Given the description of an element on the screen output the (x, y) to click on. 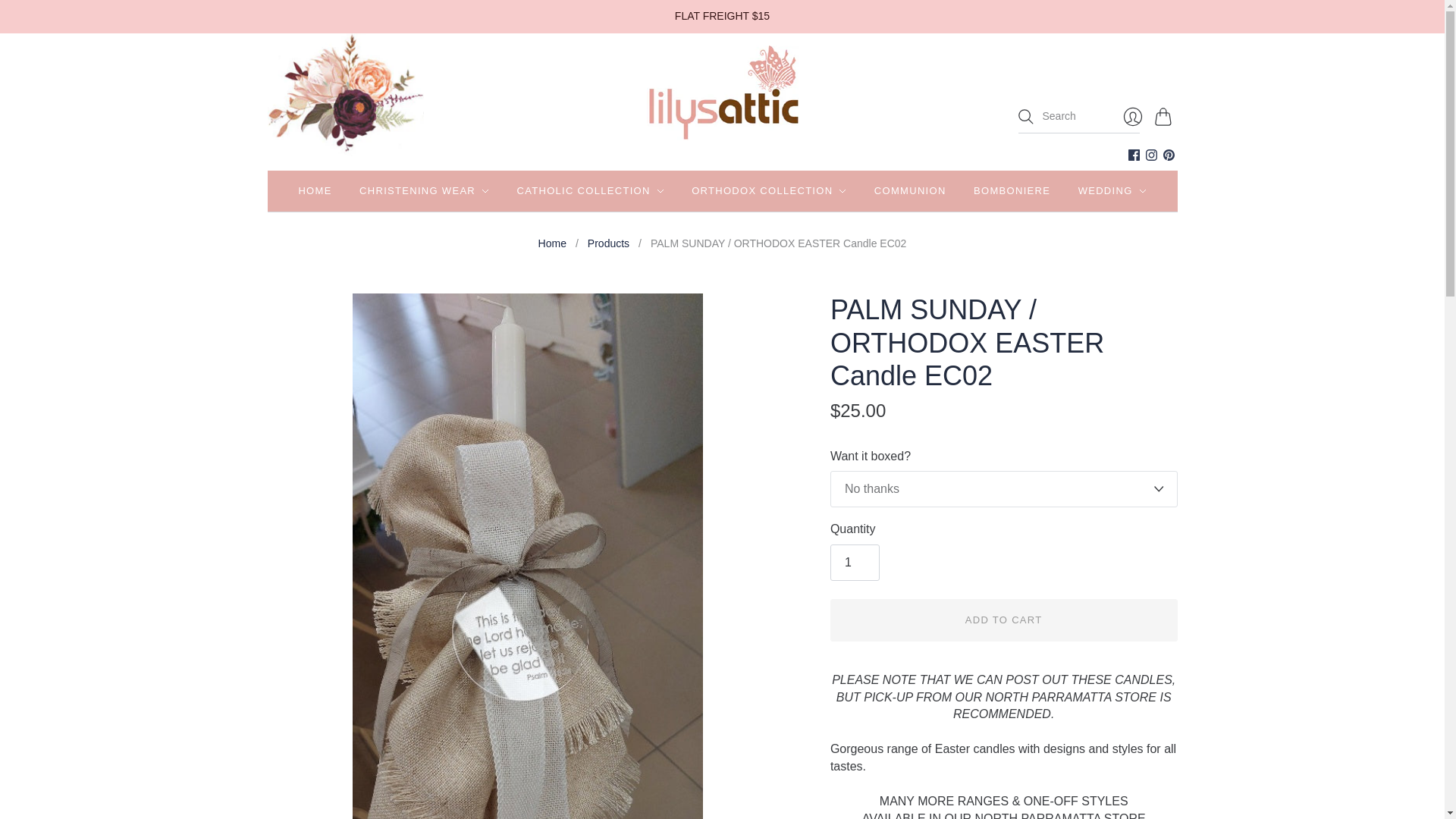
BOMBONIERE (1011, 190)
ORTHODOX COLLECTION (768, 190)
Cart (1165, 116)
1 (854, 562)
CATHOLIC COLLECTION (589, 190)
CHRISTENING WEAR (424, 190)
WEDDING (1112, 190)
COMMUNION (910, 190)
Login (1132, 116)
HOME (314, 190)
